Given the description of an element on the screen output the (x, y) to click on. 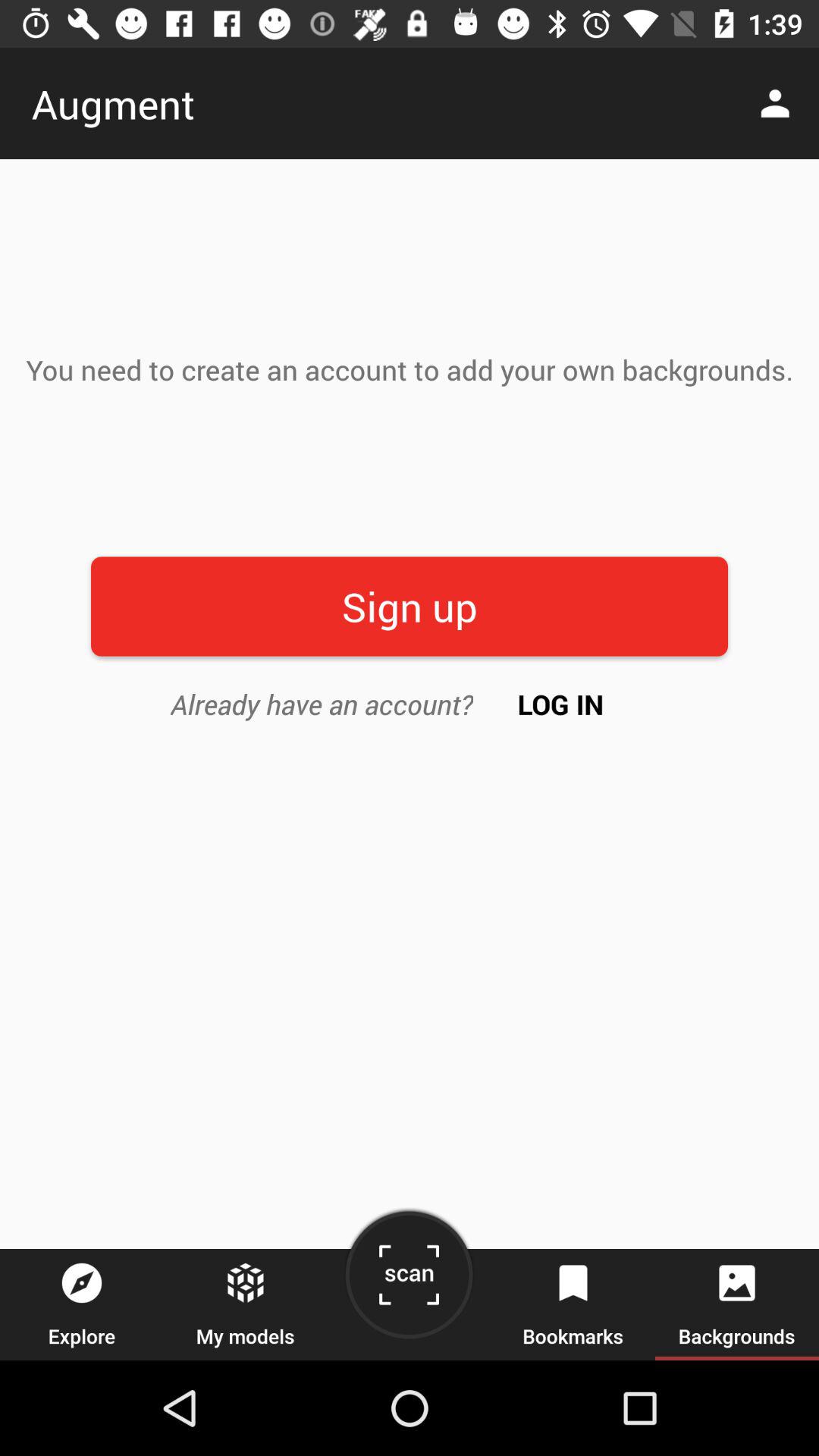
click icon on the right (560, 703)
